Given the description of an element on the screen output the (x, y) to click on. 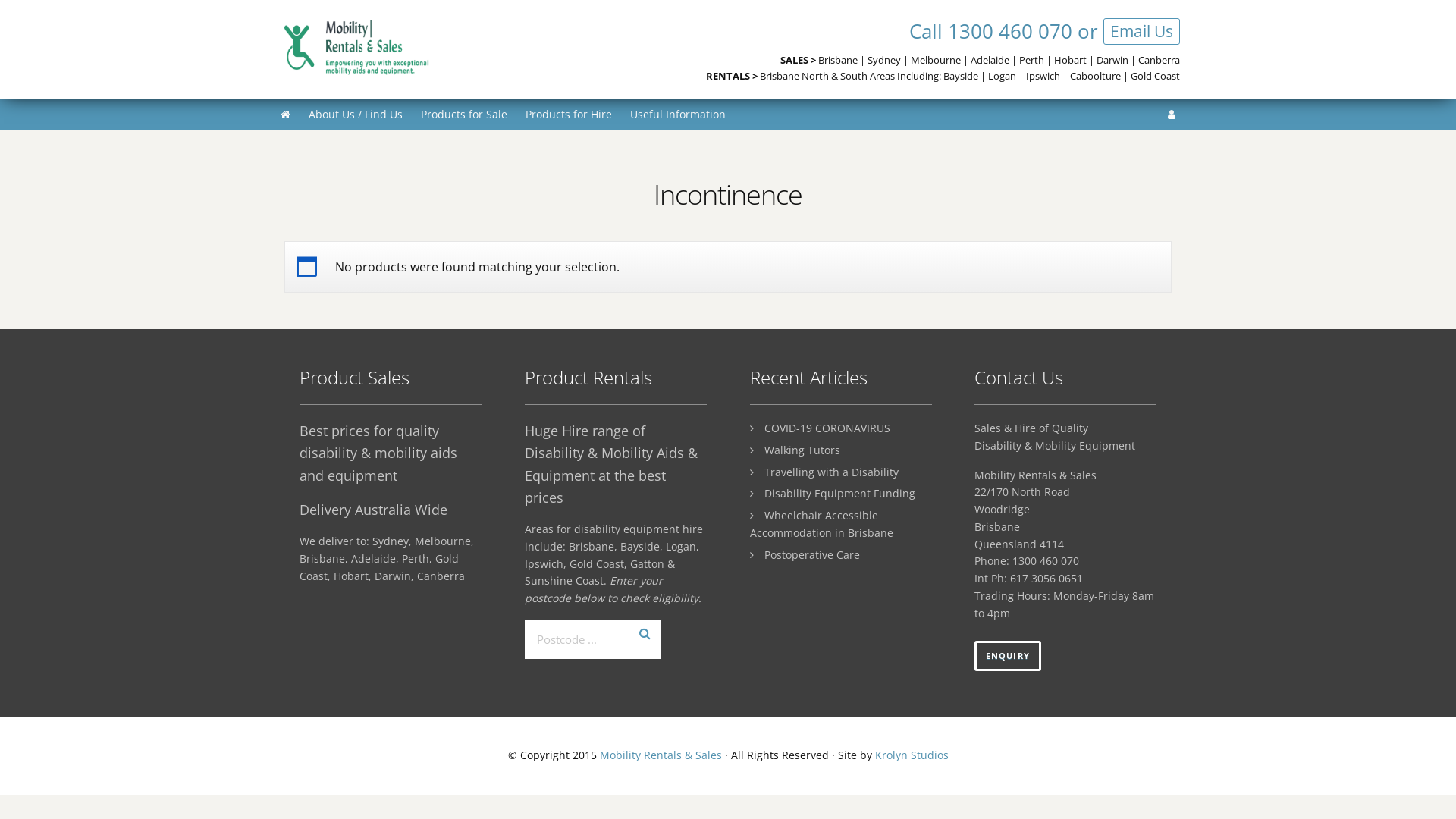
Mobility Rentals & Sales Element type: text (660, 754)
Krolyn Studios Element type: text (911, 754)
Email Us Element type: text (1141, 31)
Postoperative Care Element type: text (811, 554)
ENQUIRY Element type: text (1007, 655)
About Us / Find Us Element type: text (355, 114)
Products for Sale Element type: text (463, 114)
Walking Tutors Element type: text (802, 449)
Useful Information Element type: text (677, 114)
Home Element type: text (285, 114)
Login Element type: text (1171, 113)
Travelling with a Disability Element type: text (831, 471)
Disability Equipment Funding Element type: text (839, 493)
Products for Hire Element type: text (568, 114)
Wheelchair Accessible Accommodation in Brisbane Element type: text (821, 523)
COVID-19 CORONAVIRUS Element type: text (827, 427)
Skip to main content Element type: text (0, 0)
MOBILITY RENTALS & SALES Element type: text (397, 47)
